Given the description of an element on the screen output the (x, y) to click on. 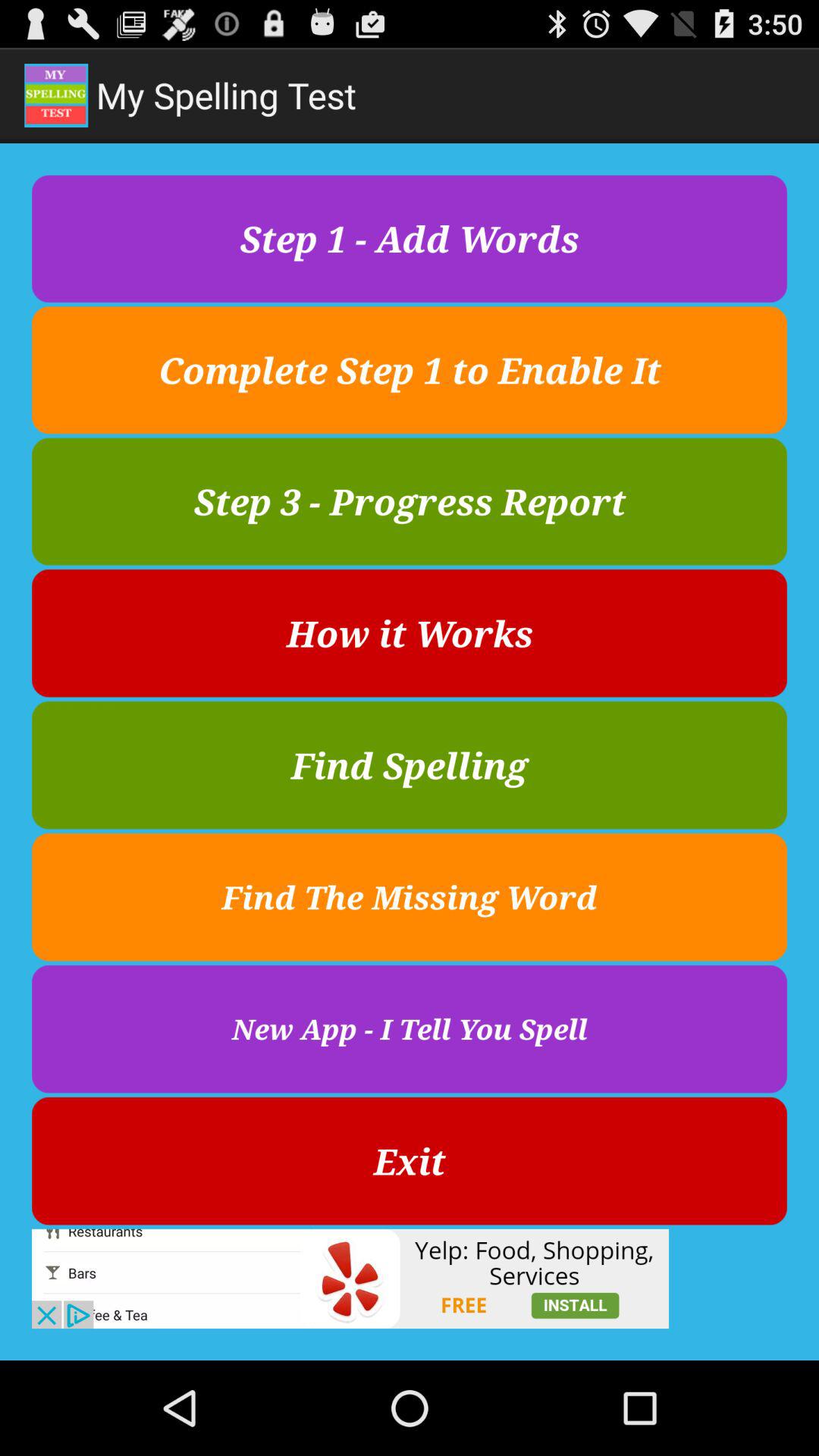
toggle advertisement (349, 1278)
